Given the description of an element on the screen output the (x, y) to click on. 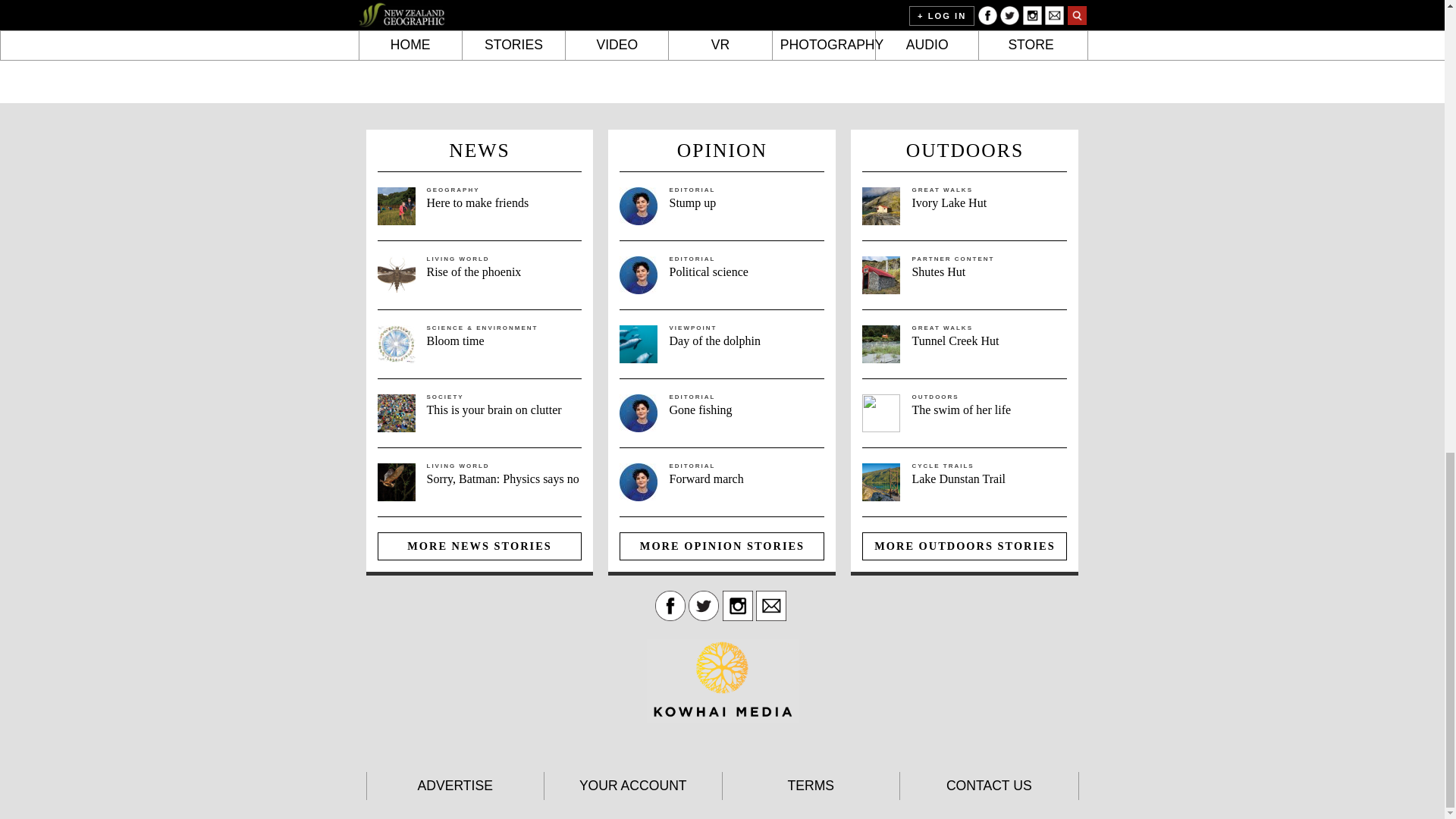
Posts by Catherine Woulfe (982, 2)
